Given the description of an element on the screen output the (x, y) to click on. 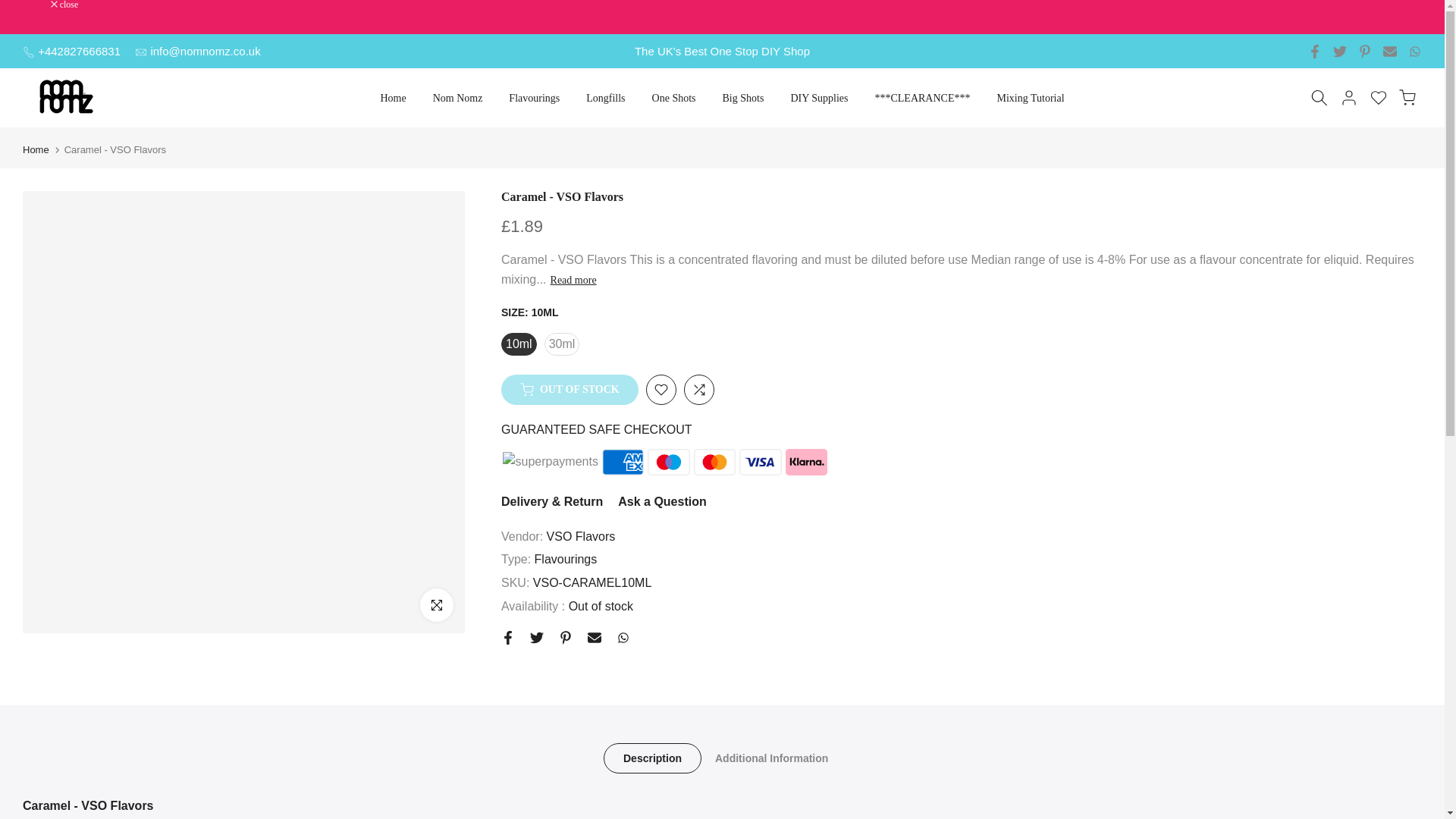
Home (392, 98)
Share on Email (594, 637)
Ask a Question (661, 501)
Home (36, 149)
Share on WhatsApp (622, 637)
Skip to content (10, 7)
Share on Twitter (536, 637)
Share on Facebook (507, 637)
Nom Nomz (457, 98)
VSO Flavors (581, 535)
